Given the description of an element on the screen output the (x, y) to click on. 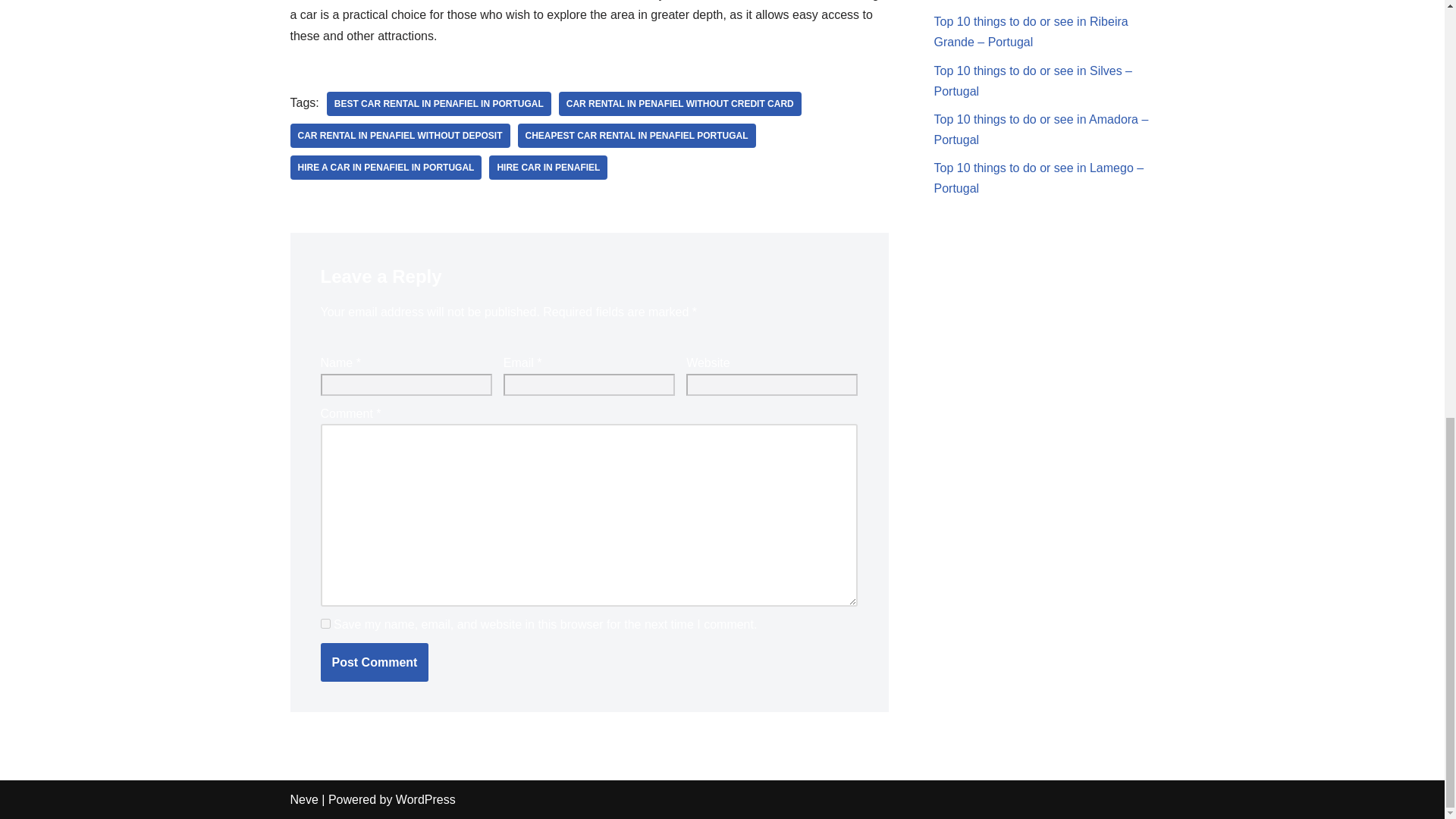
Hire a car in Penafiel in Portugal (385, 167)
WordPress (425, 799)
CAR RENTAL IN PENAFIEL WITHOUT CREDIT CARD (680, 103)
Post Comment (374, 662)
Best car rental in Penafiel in Portugal (438, 103)
HIRE CAR IN PENAFIEL (548, 167)
CAR RENTAL IN PENAFIEL WITHOUT DEPOSIT (399, 135)
Car rental in Penafiel without credit card (680, 103)
HIRE A CAR IN PENAFIEL IN PORTUGAL (385, 167)
Car rental in Penafiel without deposit (399, 135)
yes (325, 623)
CHEAPEST CAR RENTAL IN PENAFIEL PORTUGAL (636, 135)
Post Comment (374, 662)
Neve (303, 799)
Hire car in Penafiel (548, 167)
